Given the description of an element on the screen output the (x, y) to click on. 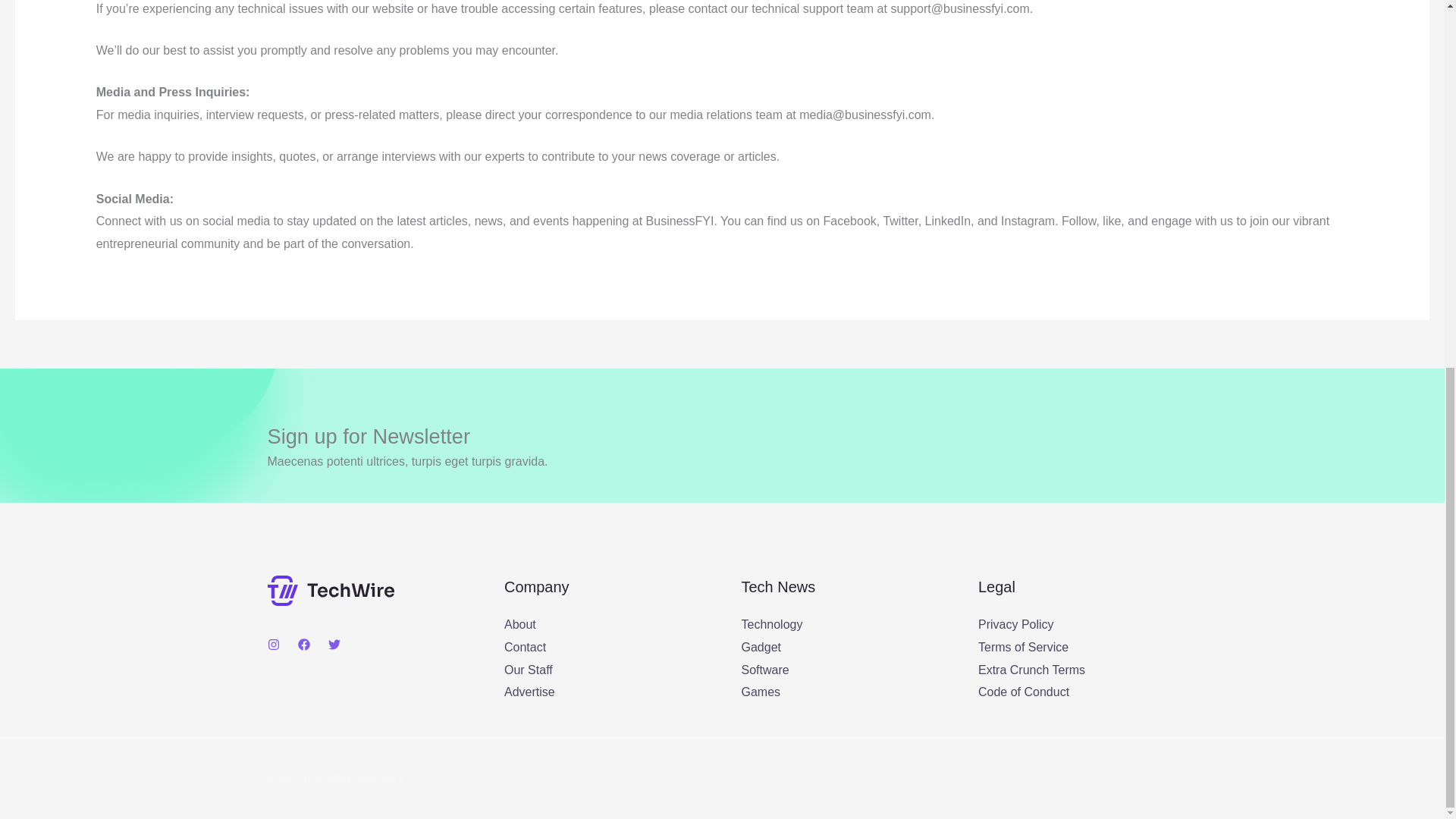
Our Staff (528, 669)
Contact (524, 646)
Technology (772, 624)
Advertise (528, 691)
Software (765, 669)
About (519, 624)
Terms of Service (1023, 646)
Gadget (760, 646)
Privacy Policy (1016, 624)
Games (760, 691)
